Given the description of an element on the screen output the (x, y) to click on. 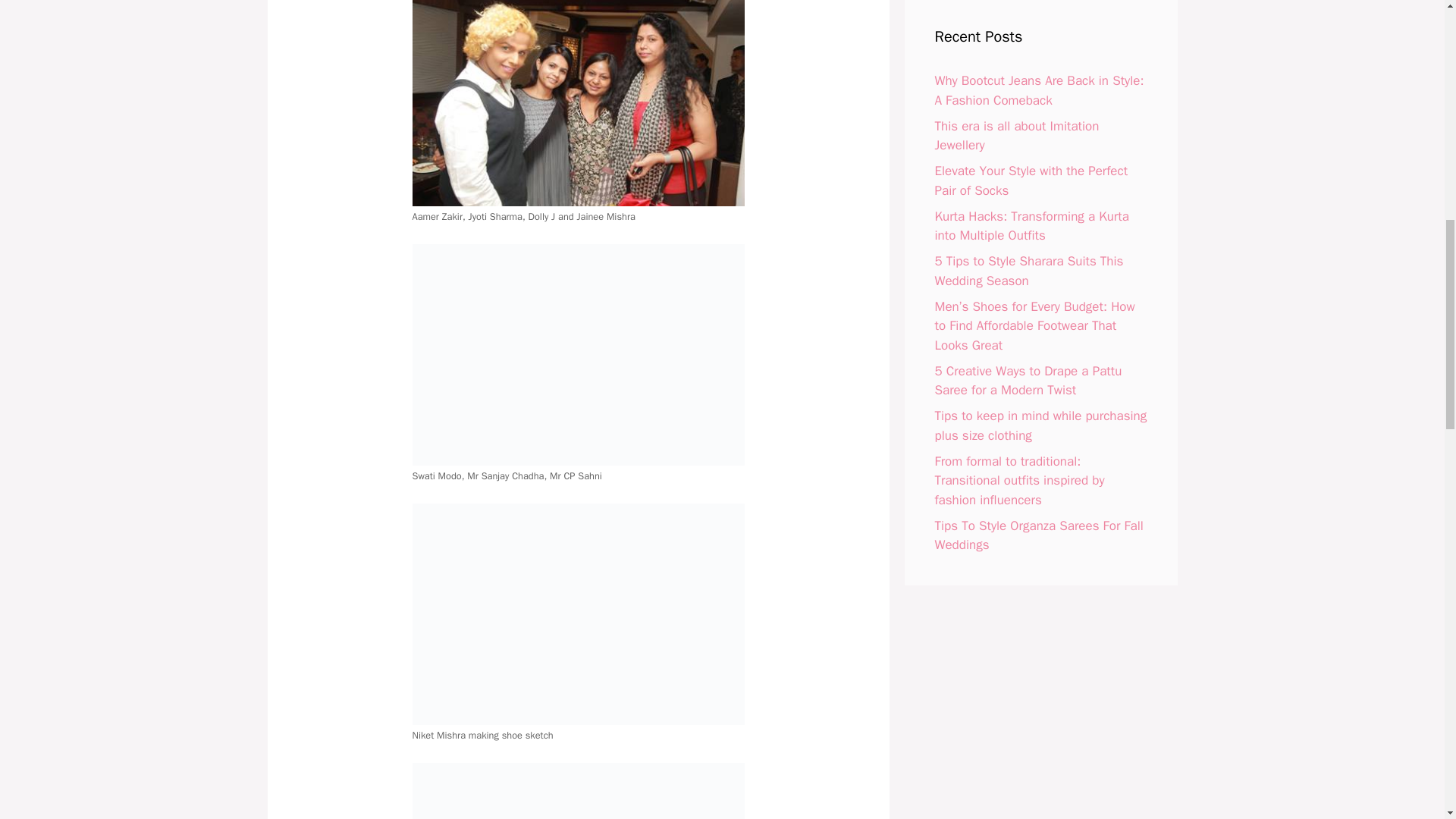
Dolly J, Meenakshi Sud Dutt and Swati Modo (578, 790)
Niket Mishra making shoe sketch (578, 613)
Aamer Zakir, Jyoti Sharma, Dolly J and Jainee Mishra (578, 103)
Swati Modo, Mr Sanjay Chadha, Mr CP Sahni (578, 355)
